Given the description of an element on the screen output the (x, y) to click on. 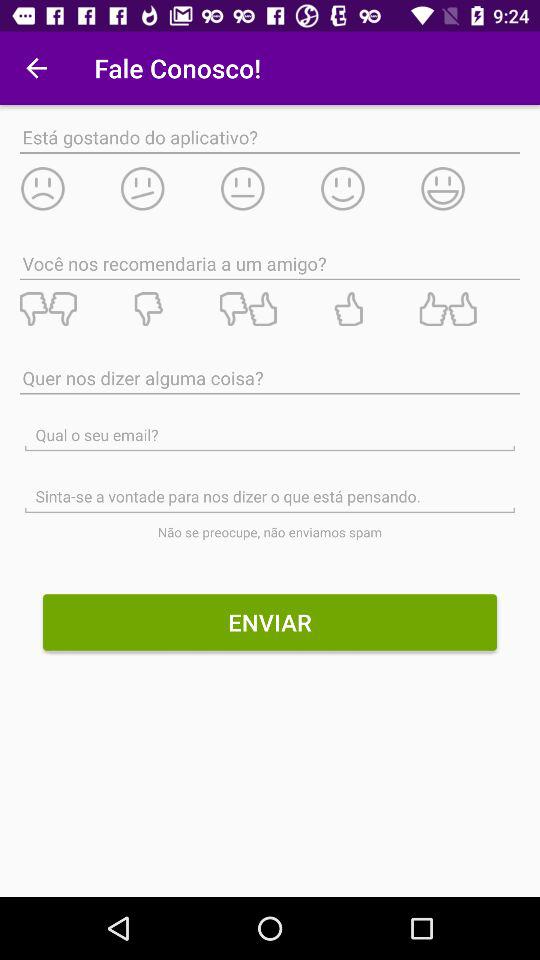
positive or negative opinion (269, 309)
